Given the description of an element on the screen output the (x, y) to click on. 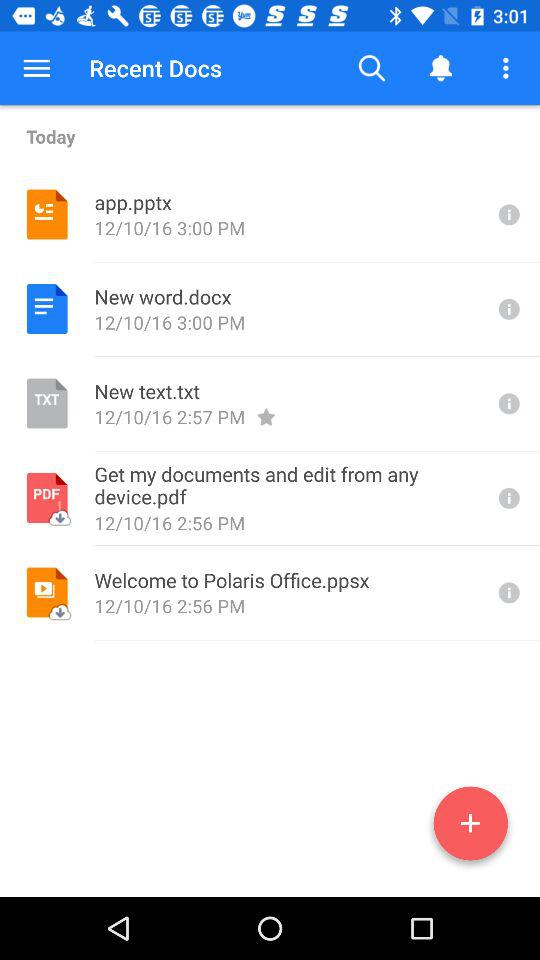
press the recent docs (155, 68)
